Given the description of an element on the screen output the (x, y) to click on. 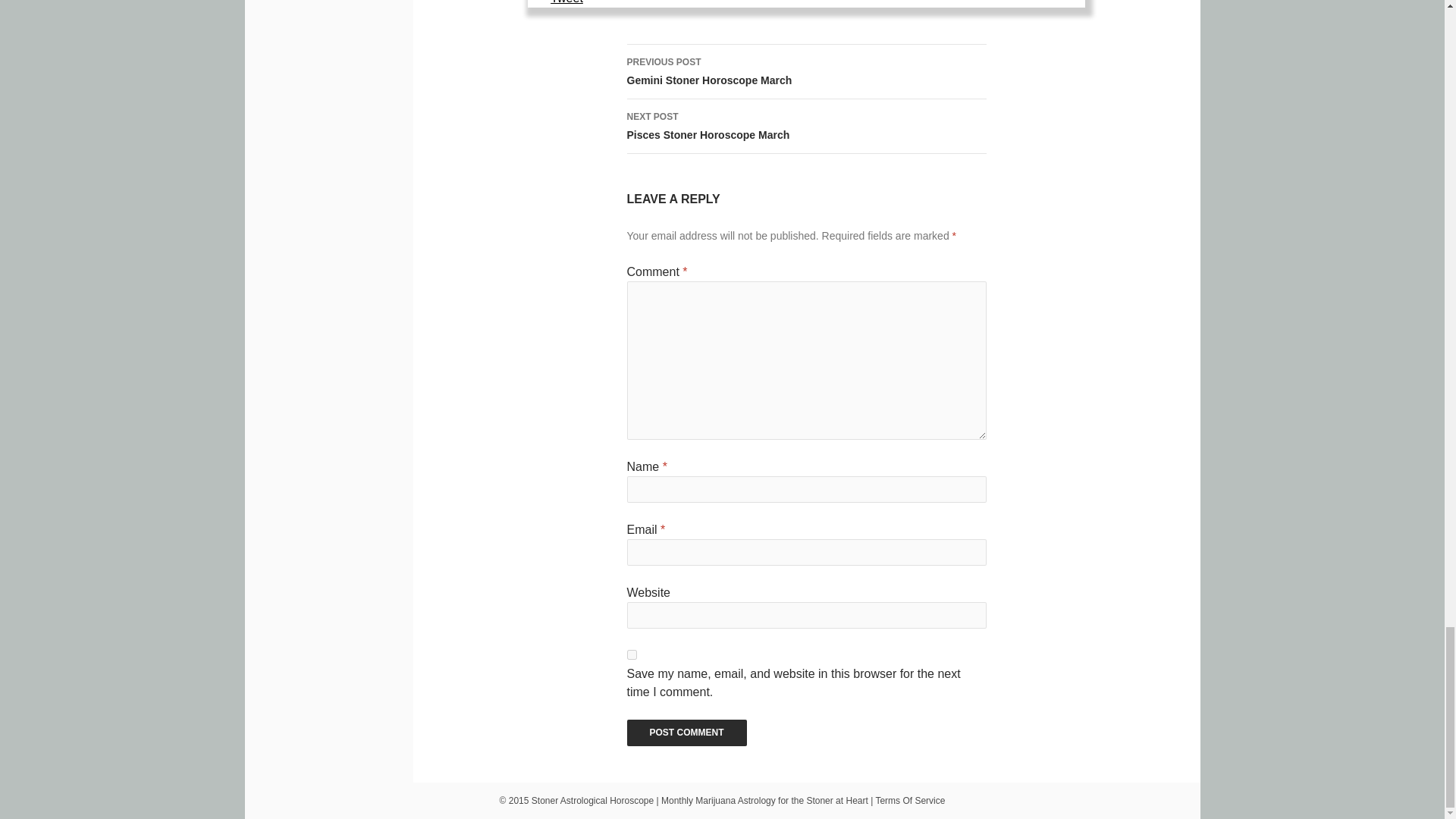
yes (631, 655)
Post Comment (685, 732)
